Given the description of an element on the screen output the (x, y) to click on. 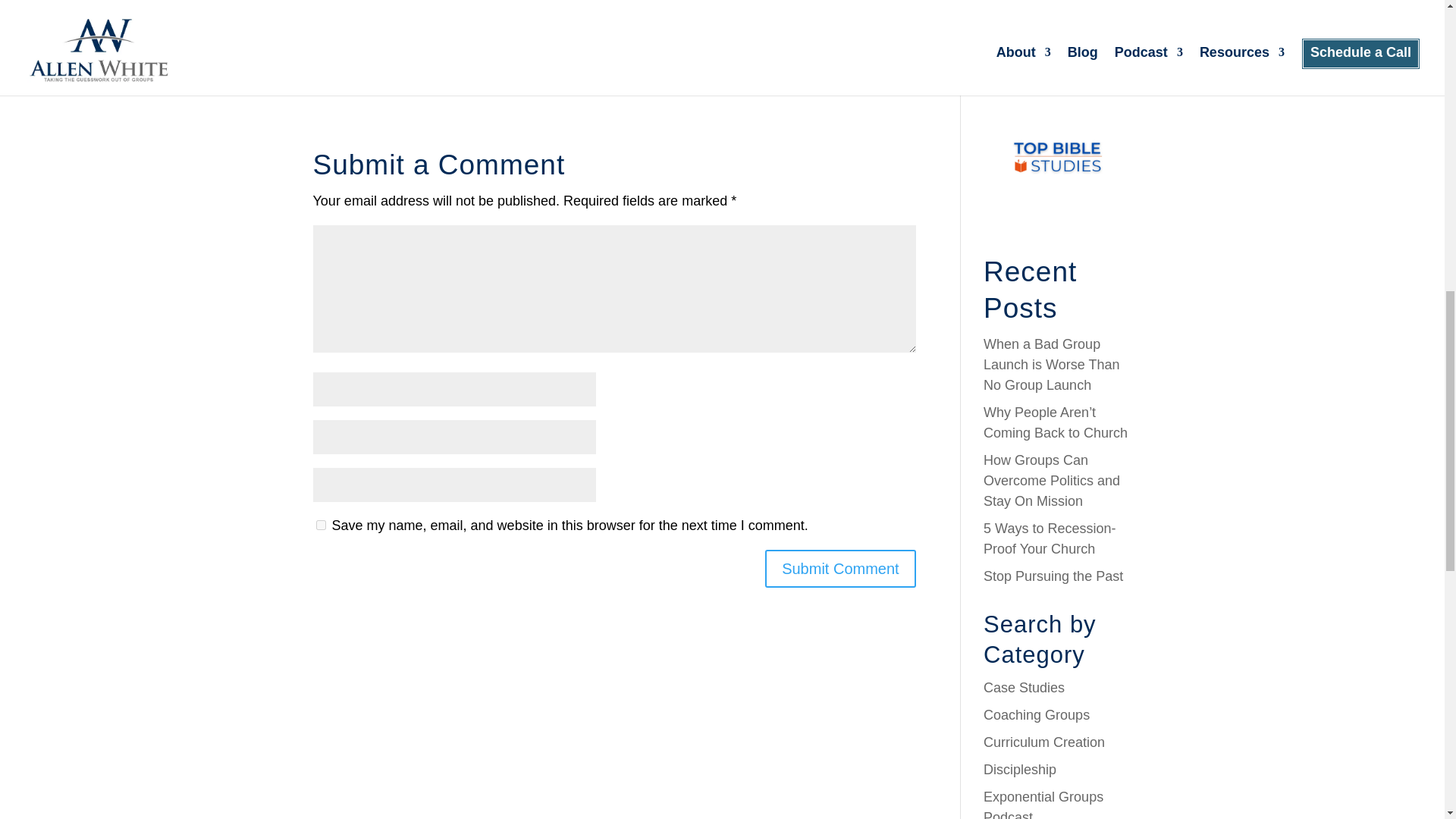
yes (319, 524)
Submit Comment (840, 568)
